Given the description of an element on the screen output the (x, y) to click on. 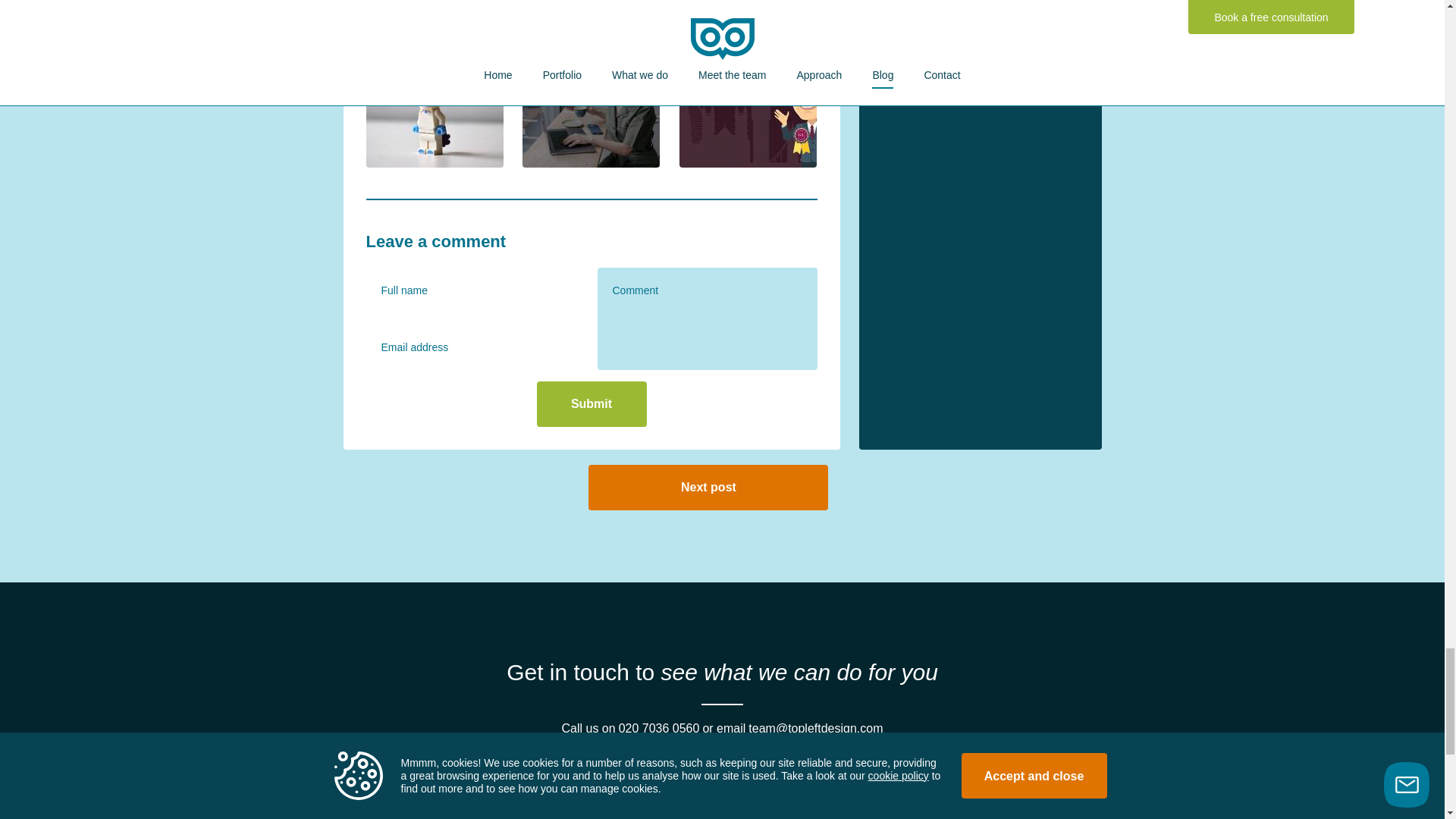
Submit (591, 403)
Next post (708, 487)
